Given the description of an element on the screen output the (x, y) to click on. 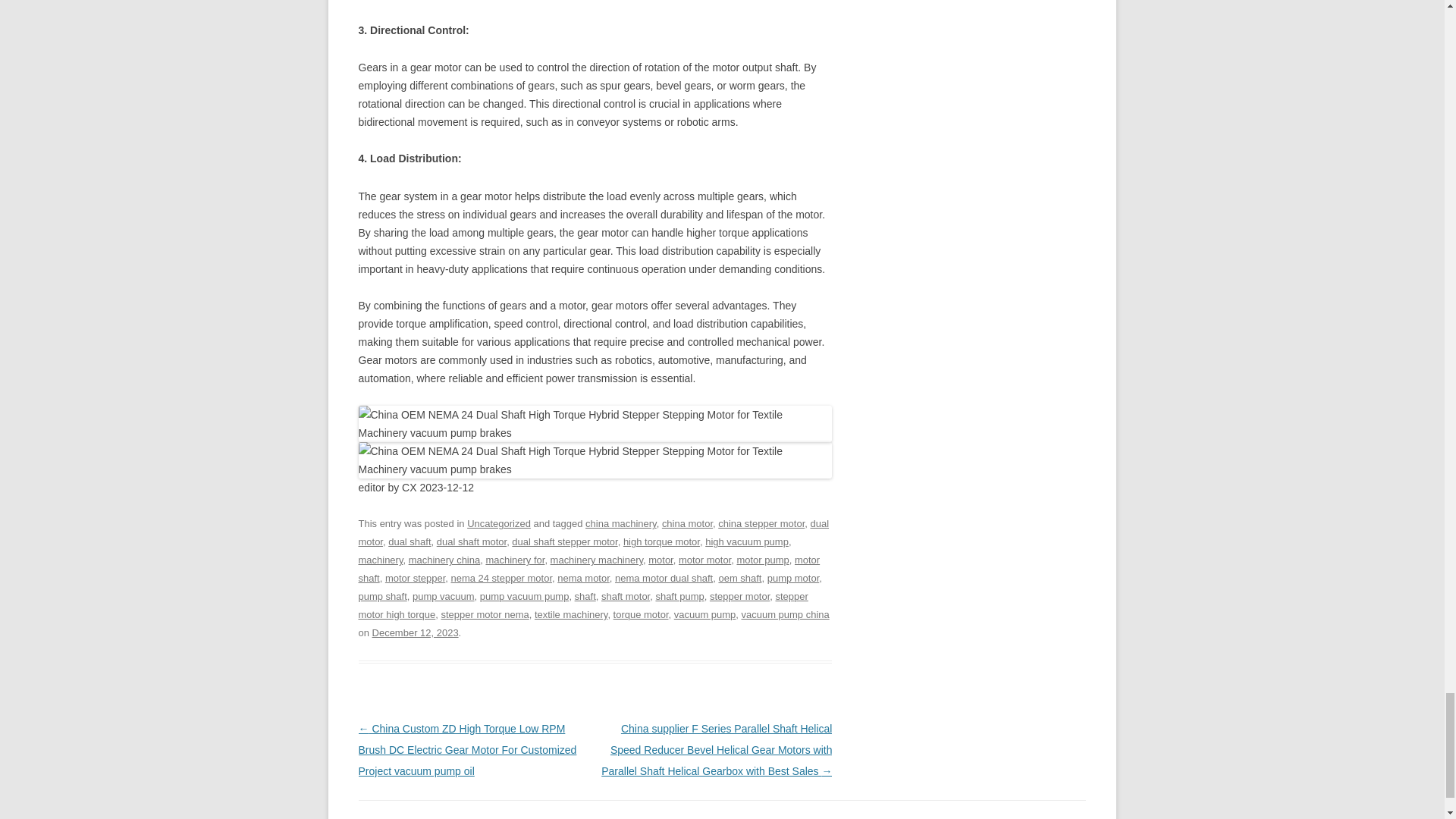
china motor (687, 523)
nema motor dual shaft (663, 577)
Uncategorized (499, 523)
stepper motor high torque (583, 604)
nema 24 stepper motor (500, 577)
dual shaft motor (471, 541)
high torque motor (661, 541)
stepper motor nema (485, 614)
nema motor (583, 577)
oem shaft (739, 577)
